Given the description of an element on the screen output the (x, y) to click on. 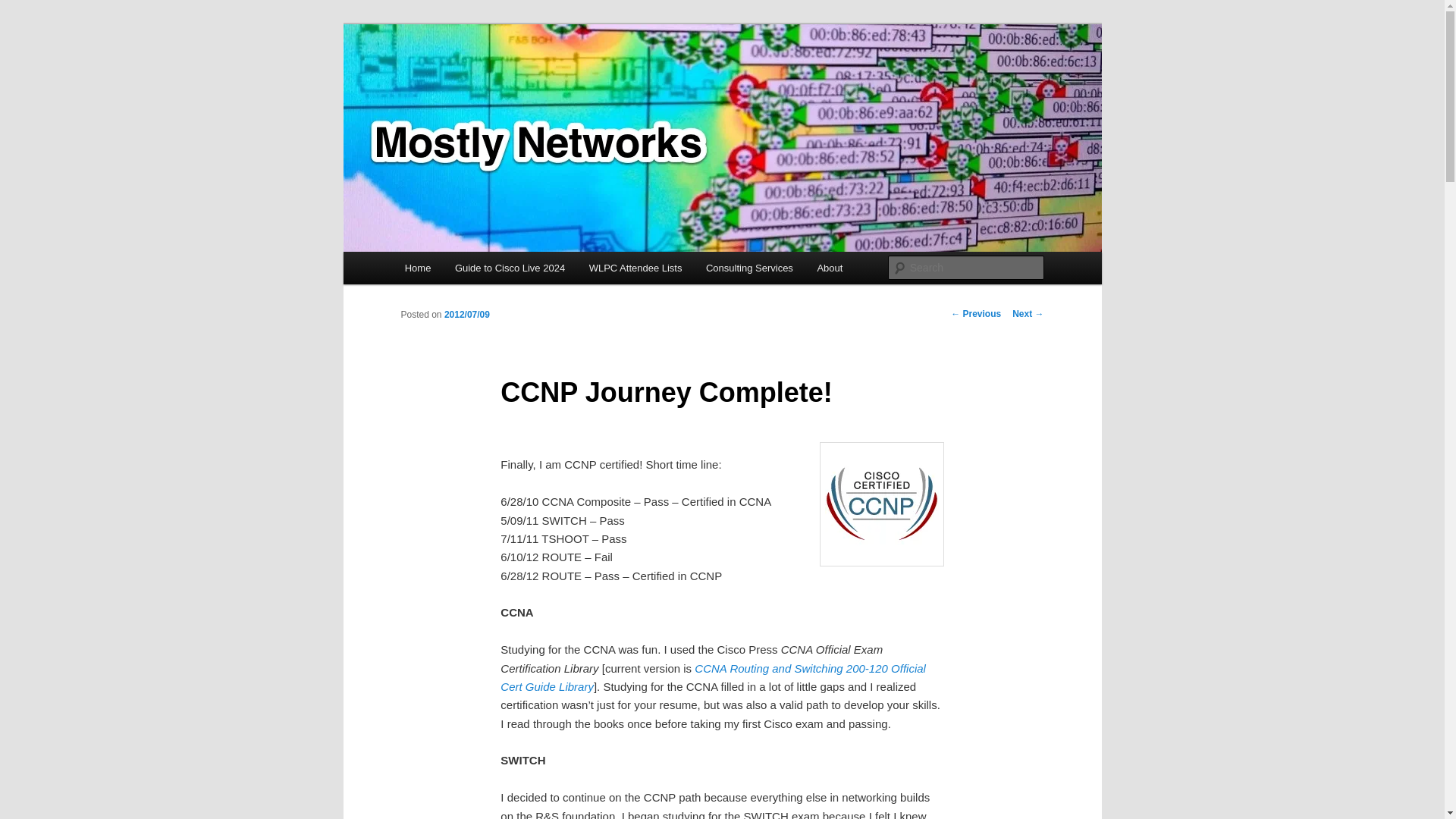
Guide to Cisco Live 2024 (509, 267)
CCNP Logo (881, 504)
Home (417, 267)
About (829, 267)
WLPC Attendee Lists (635, 267)
Consulting Services (749, 267)
08:00 (466, 314)
Search (24, 8)
Mostly Networks (490, 78)
